Given the description of an element on the screen output the (x, y) to click on. 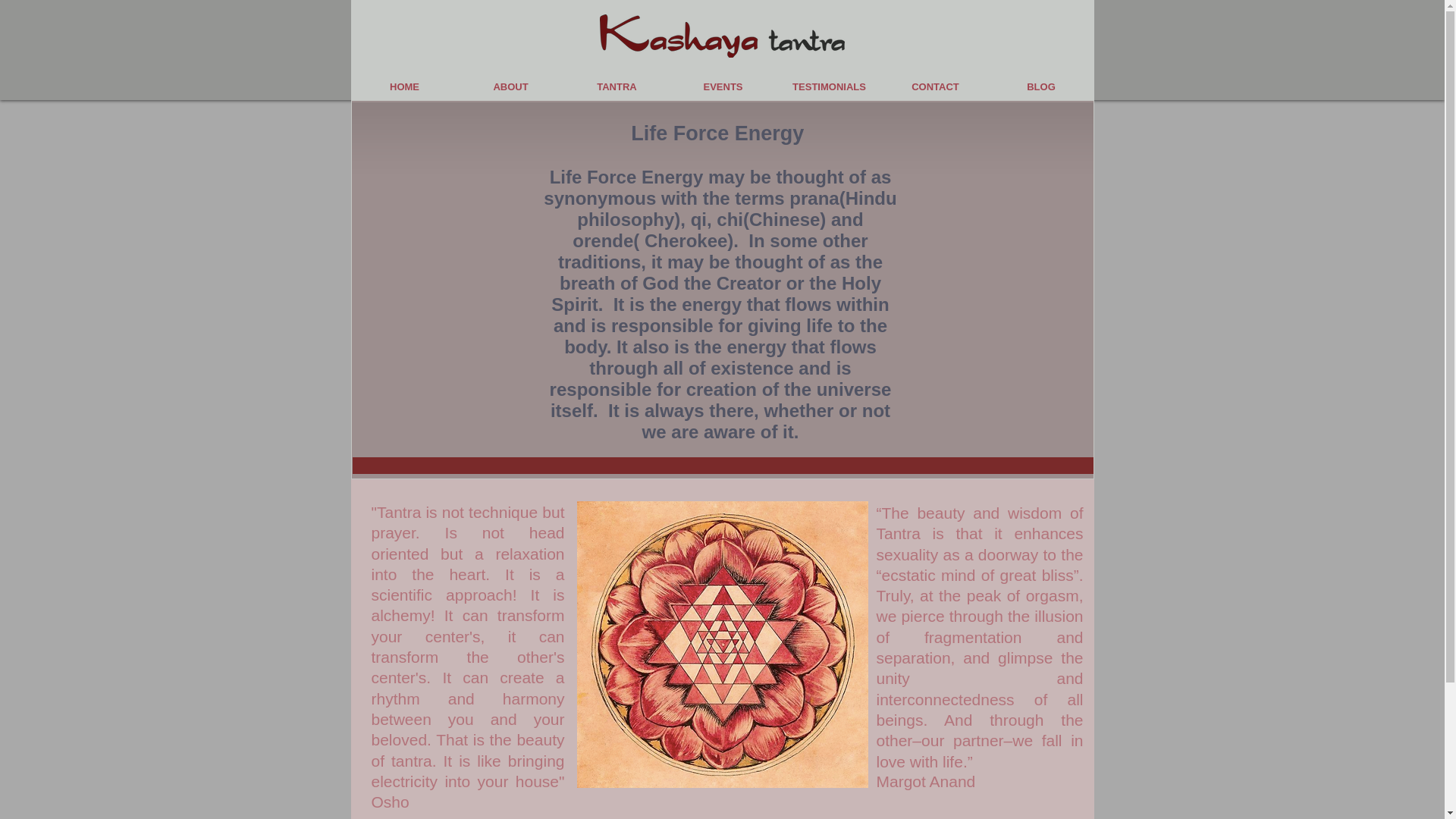
ABOUT (511, 86)
HOME (405, 86)
TESTIMONIALS (829, 86)
EVENTS (722, 86)
CONTACT (935, 86)
BLOG (1041, 86)
TANTRA (616, 86)
